Given the description of an element on the screen output the (x, y) to click on. 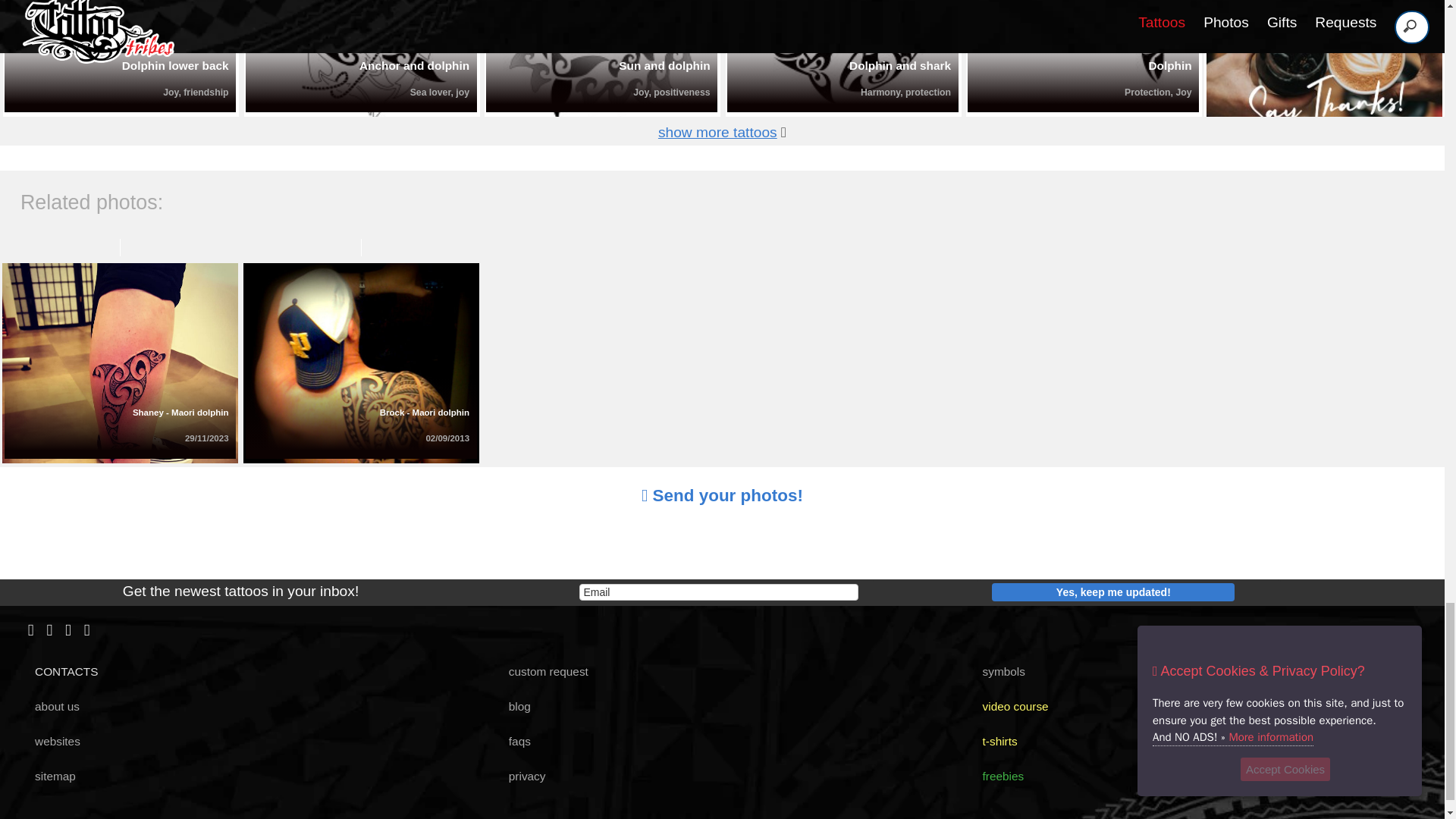
Privacy policy (520, 775)
Frequently Asked Questions (512, 740)
TattooTribes on Pinterest (49, 630)
Artists contacts (61, 671)
Custom tattoo requests (542, 671)
Polynesian tattoo symbols wiki (998, 671)
TattooTribes RSS feed (87, 630)
About us (51, 706)
TattooTribes on Facebook (30, 630)
TattooTribes on Instagram (68, 630)
Our websites (51, 740)
TattooTribes blog (512, 706)
Polynesian Tattoos 101 video course (1009, 706)
sitemap (49, 775)
